Given the description of an element on the screen output the (x, y) to click on. 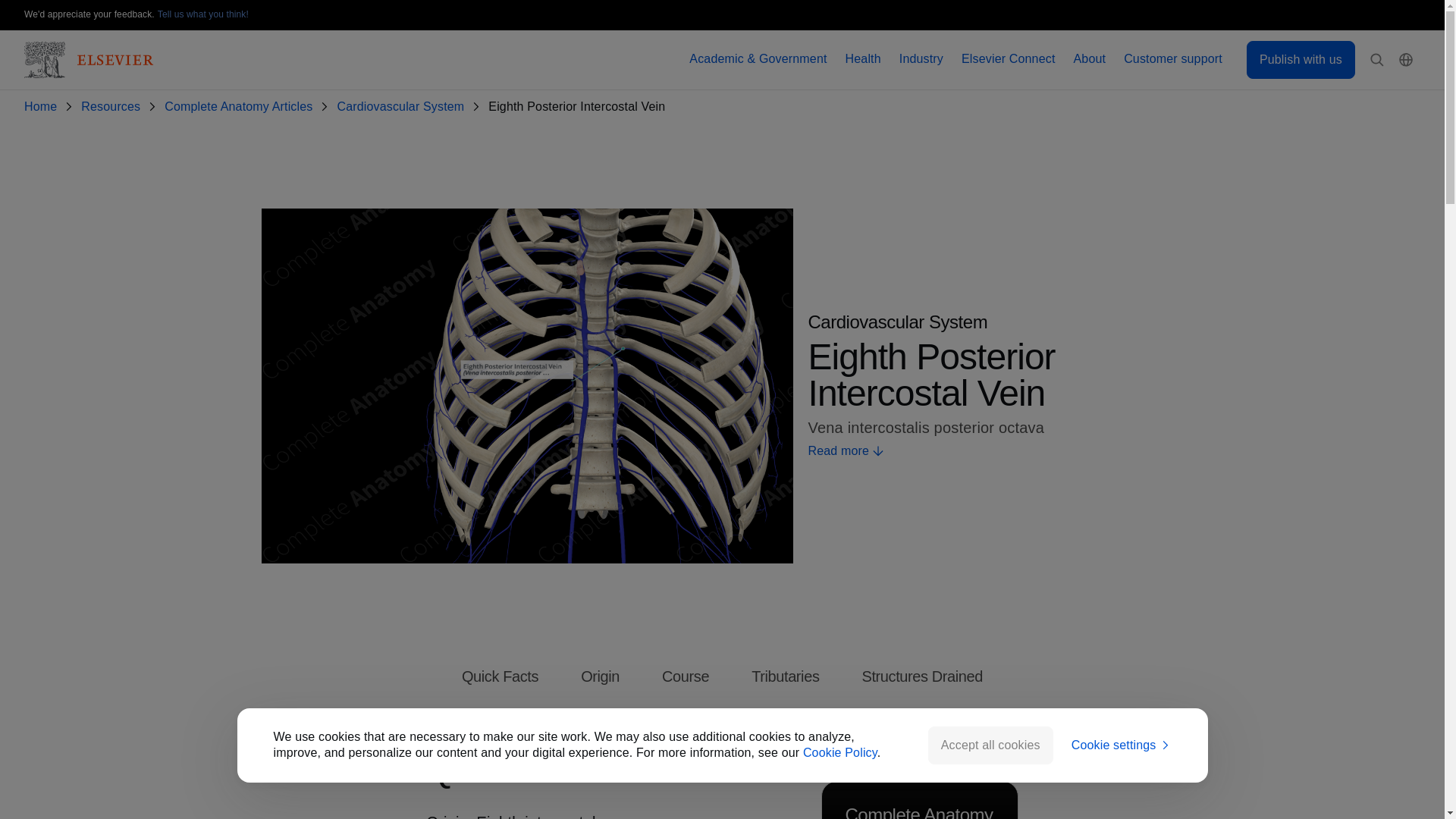
Resources (114, 107)
Structures Drained (921, 676)
Cookie Policy (840, 752)
About (1090, 59)
Course (685, 676)
Cardiovascular System (403, 107)
Elsevier Connect (1007, 59)
Customer support (1173, 59)
Publish with us (1300, 59)
Tributaries (784, 676)
